Given the description of an element on the screen output the (x, y) to click on. 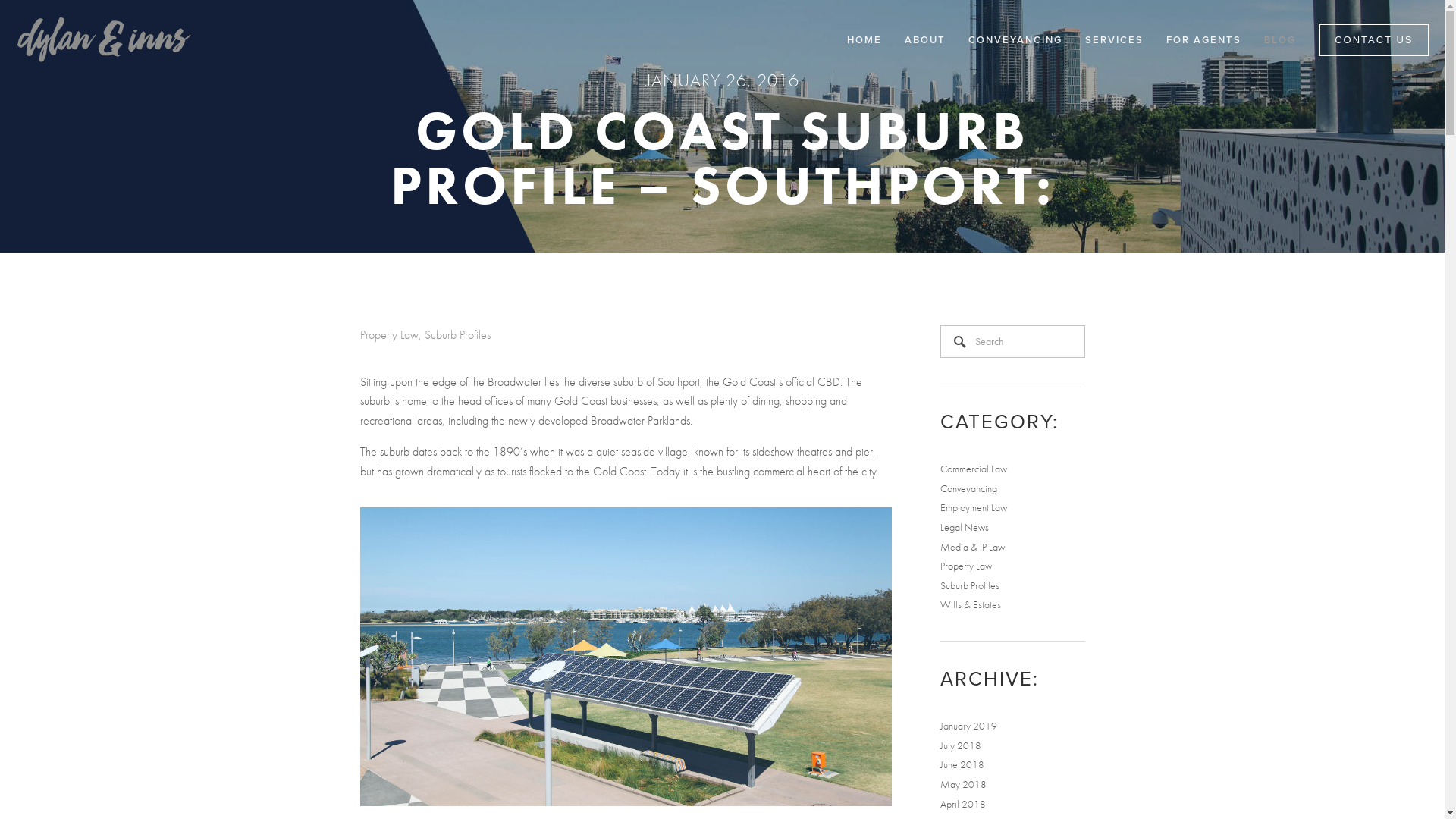
HOME Element type: text (864, 39)
January 2019 Element type: text (968, 725)
Legal News Element type: text (964, 526)
May 2018 Element type: text (963, 784)
Property Law Element type: text (388, 334)
July 2018 Element type: text (960, 745)
Commercial Law Element type: text (973, 468)
BLOG Element type: text (1279, 39)
Wills & Estates Element type: text (970, 604)
June 2018 Element type: text (962, 764)
Suburb Profiles Element type: text (457, 334)
CONTACT US Element type: text (1373, 39)
April 2018 Element type: text (962, 803)
Conveyancing Element type: text (968, 488)
Property Law Element type: text (965, 565)
Suburb Profiles Element type: text (969, 585)
Employment Law Element type: text (973, 507)
Media & IP Law Element type: text (972, 546)
